Given the description of an element on the screen output the (x, y) to click on. 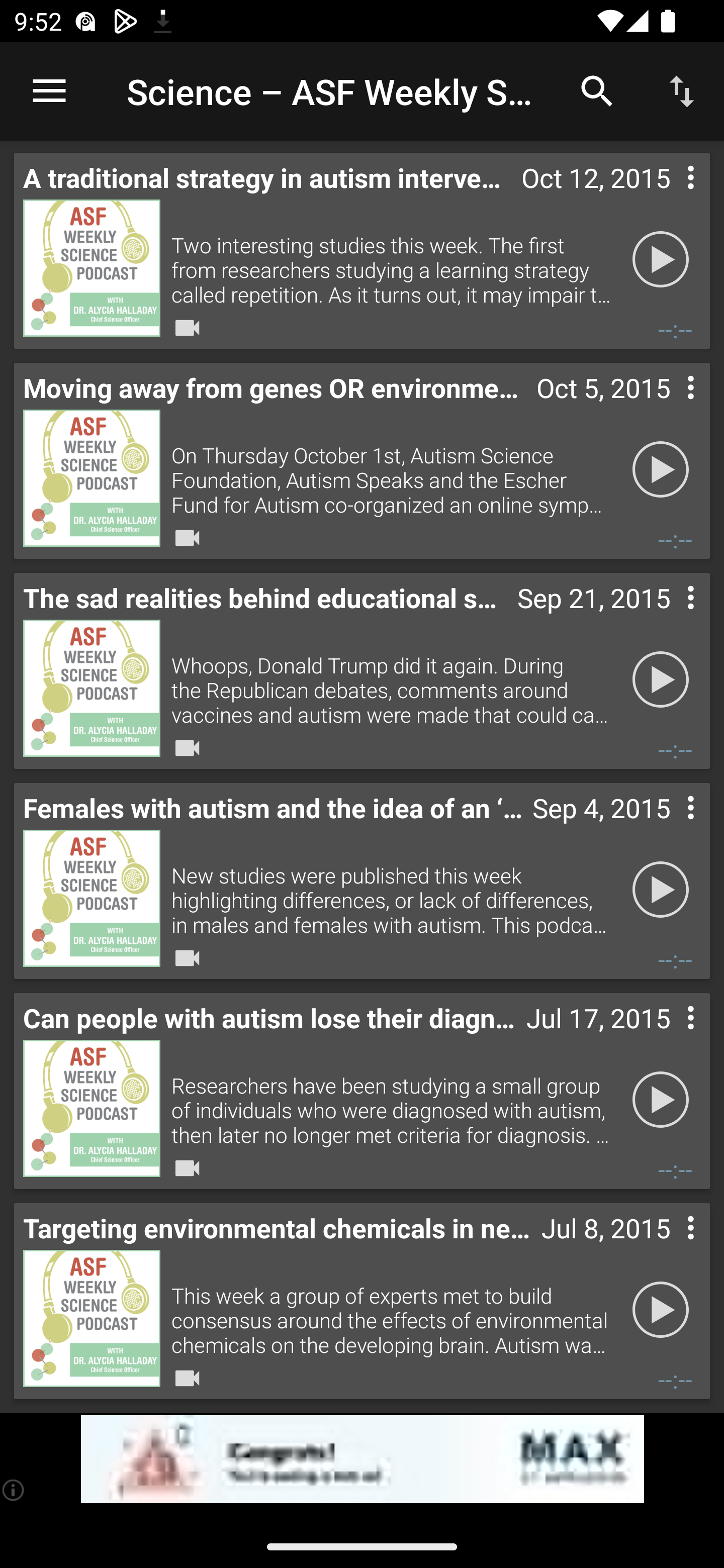
Open navigation sidebar (49, 91)
Search (597, 90)
Sort (681, 90)
Contextual menu (668, 197)
Play (660, 259)
Contextual menu (668, 408)
Play (660, 469)
Contextual menu (668, 618)
Play (660, 679)
Contextual menu (668, 827)
Play (660, 889)
Contextual menu (668, 1037)
Play (660, 1099)
Contextual menu (668, 1247)
Play (660, 1309)
app-monetization (362, 1459)
(i) (14, 1489)
